Given the description of an element on the screen output the (x, y) to click on. 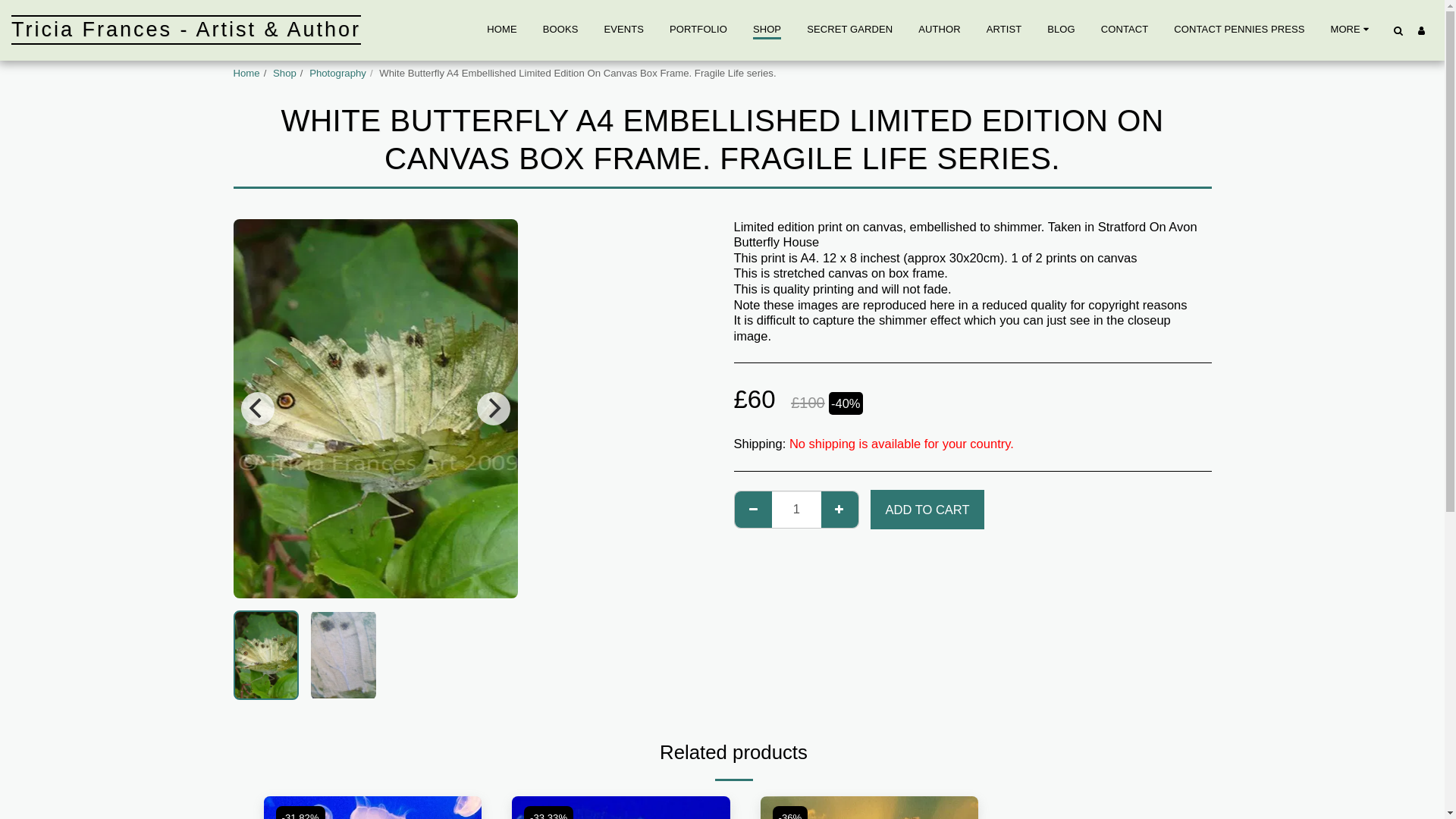
AUTHOR (938, 29)
ARTIST (1003, 29)
PORTFOLIO (698, 29)
MORE   (1351, 29)
BLOG (1061, 29)
HOME (501, 29)
1 (796, 509)
SECRET GARDEN (849, 29)
CONTACT (1124, 29)
